Given the description of an element on the screen output the (x, y) to click on. 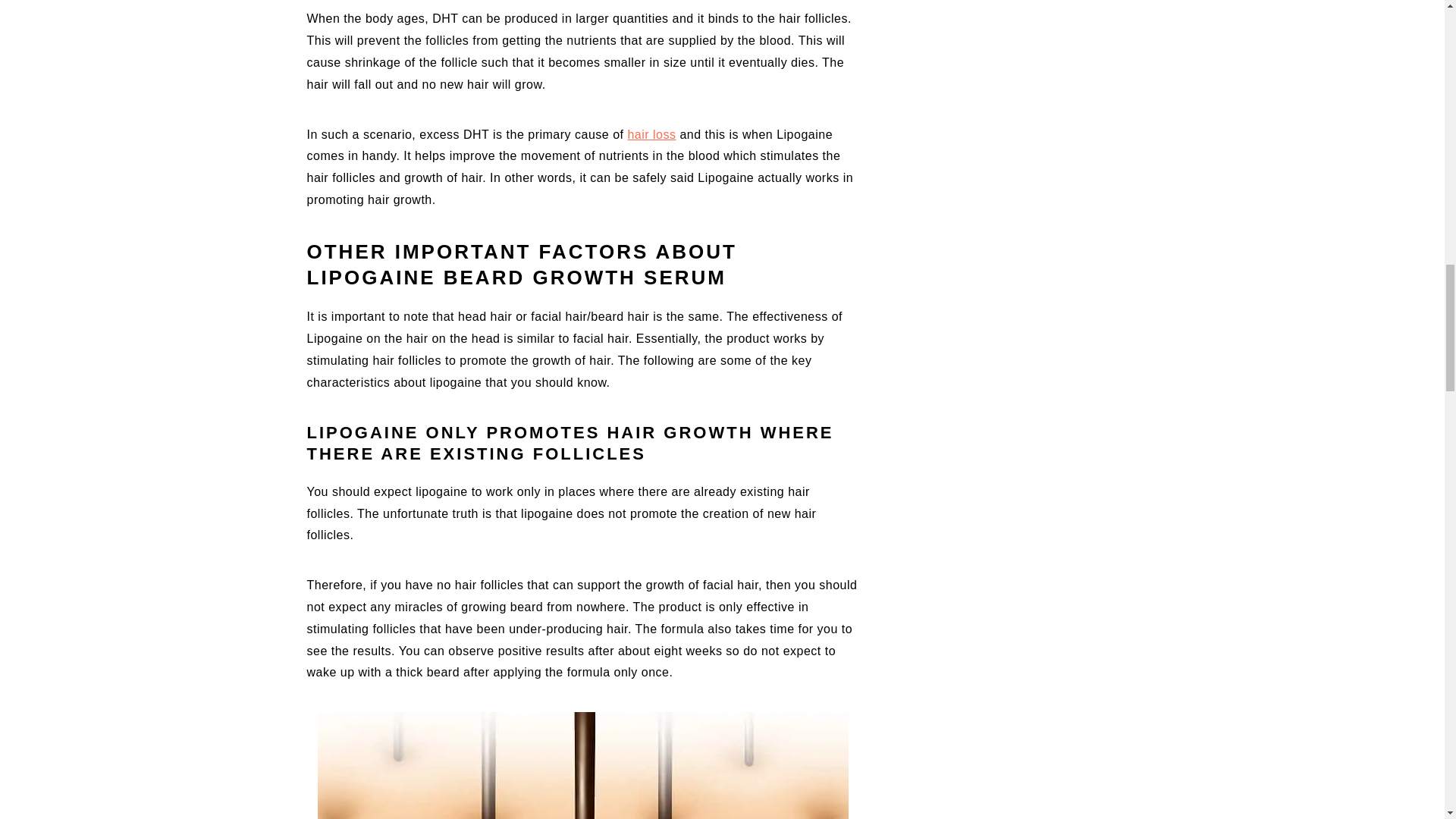
hair loss (651, 133)
Other Important Factors about Lipogaine Beard Growth Serum (582, 765)
